Given the description of an element on the screen output the (x, y) to click on. 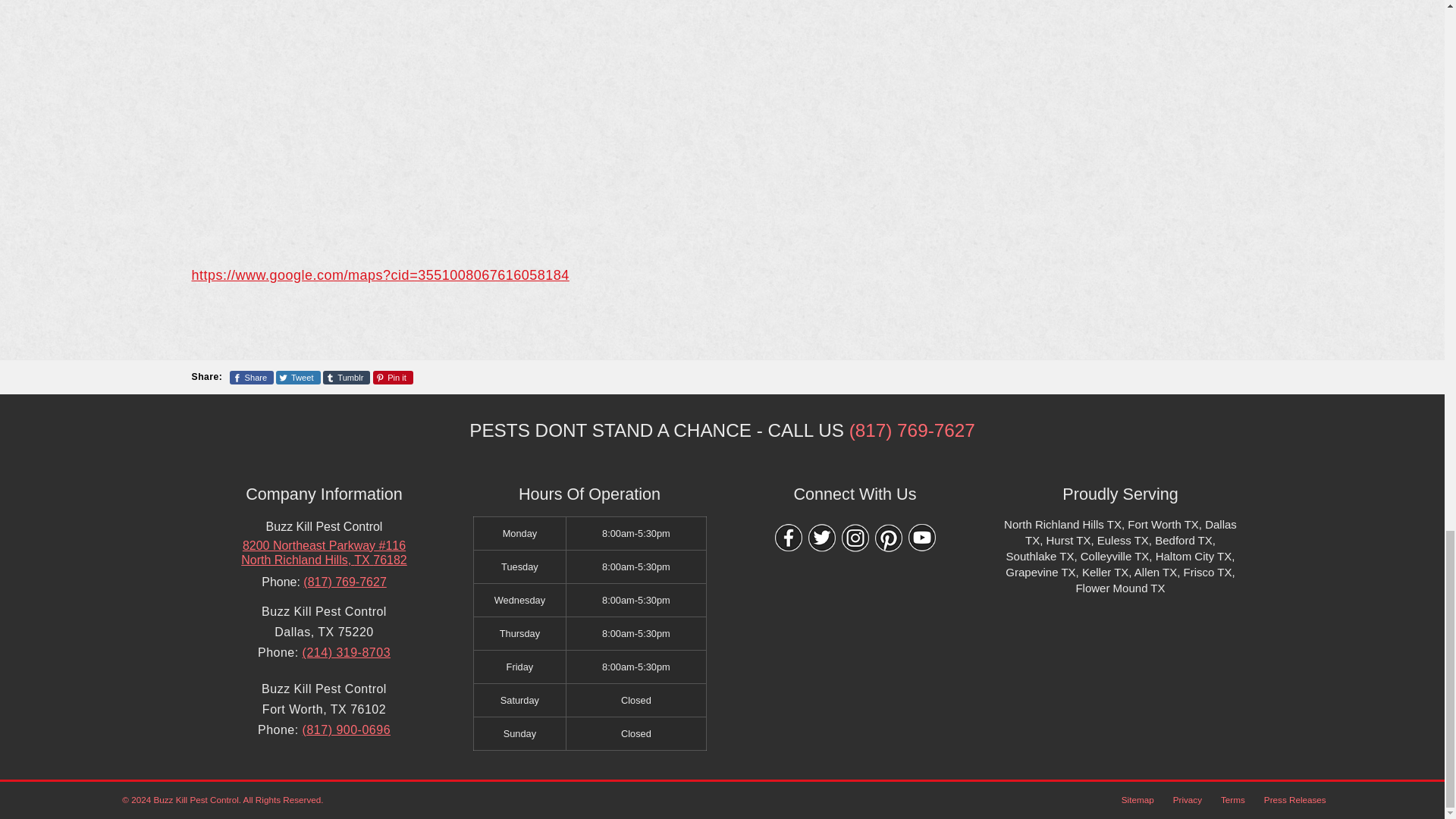
YouTube (922, 538)
Instagram (855, 538)
Twitter (821, 538)
Pinterest (888, 538)
Facebook (788, 538)
